Given the description of an element on the screen output the (x, y) to click on. 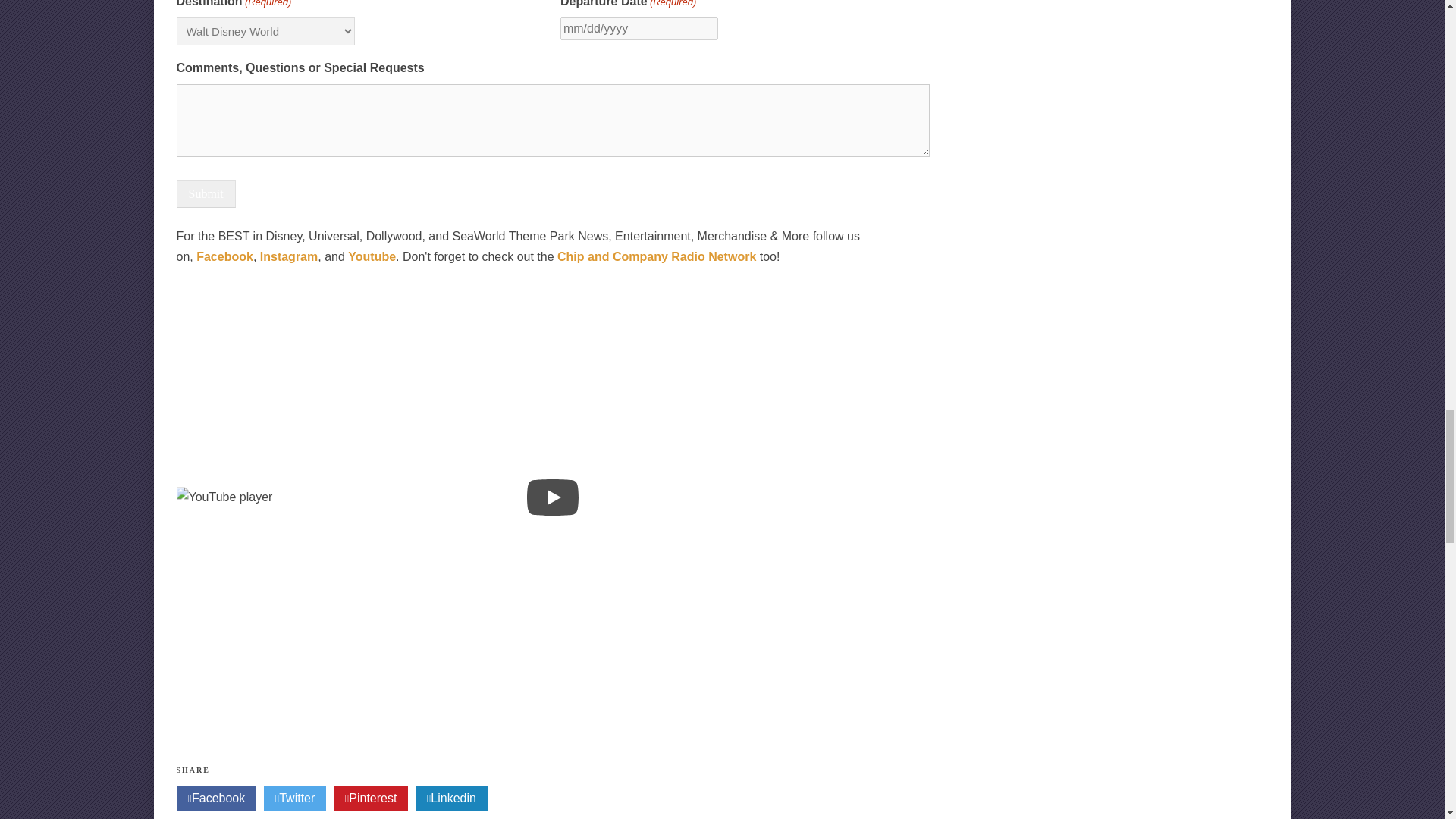
Submit (205, 194)
